Given the description of an element on the screen output the (x, y) to click on. 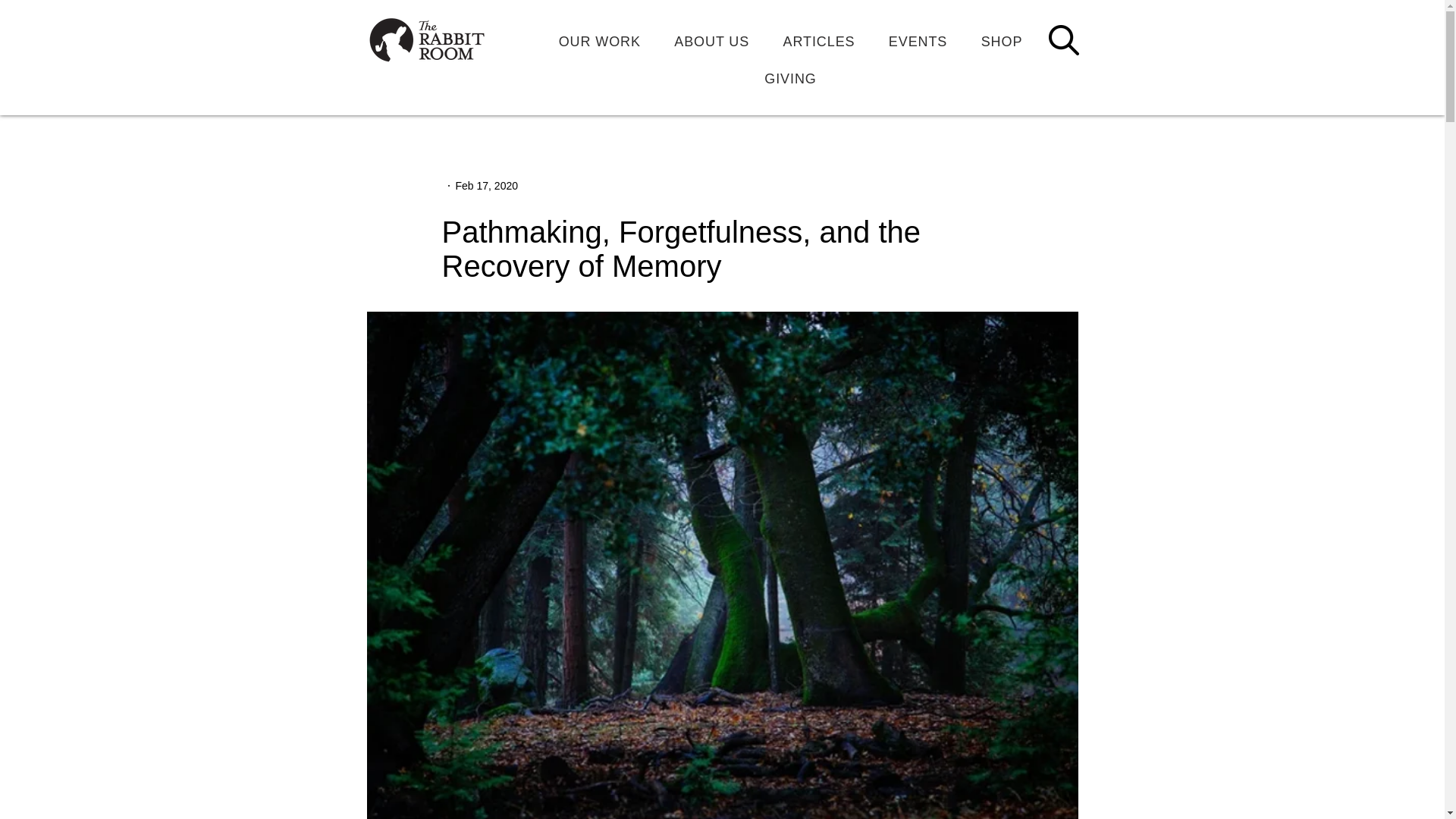
Feb 17, 2020 (486, 184)
GIVING (789, 79)
ARTICLES (817, 41)
EVENTS (917, 41)
ABOUT US (711, 41)
SHOP (1000, 41)
